Given the description of an element on the screen output the (x, y) to click on. 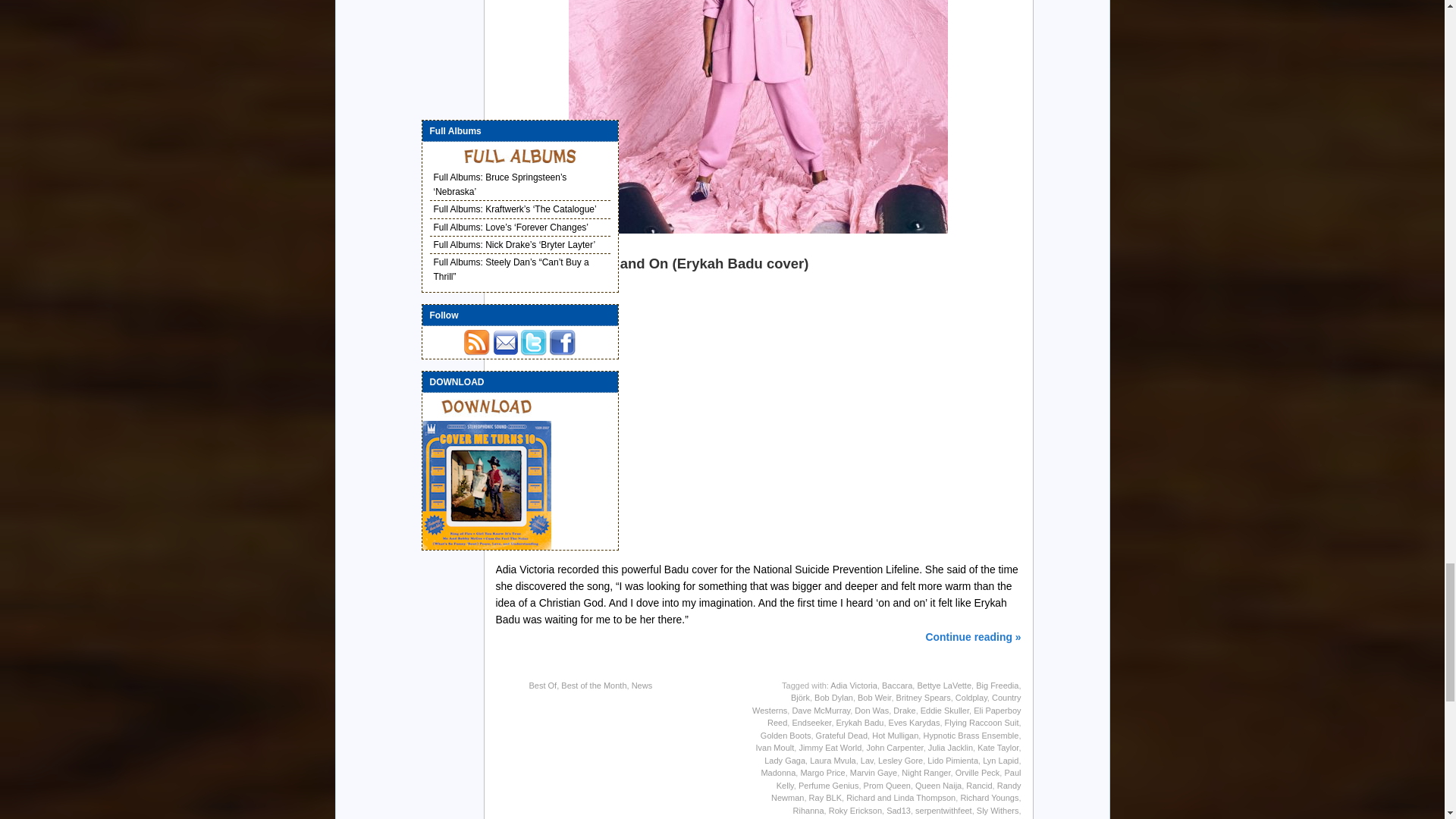
Full Albums (520, 155)
